Given the description of an element on the screen output the (x, y) to click on. 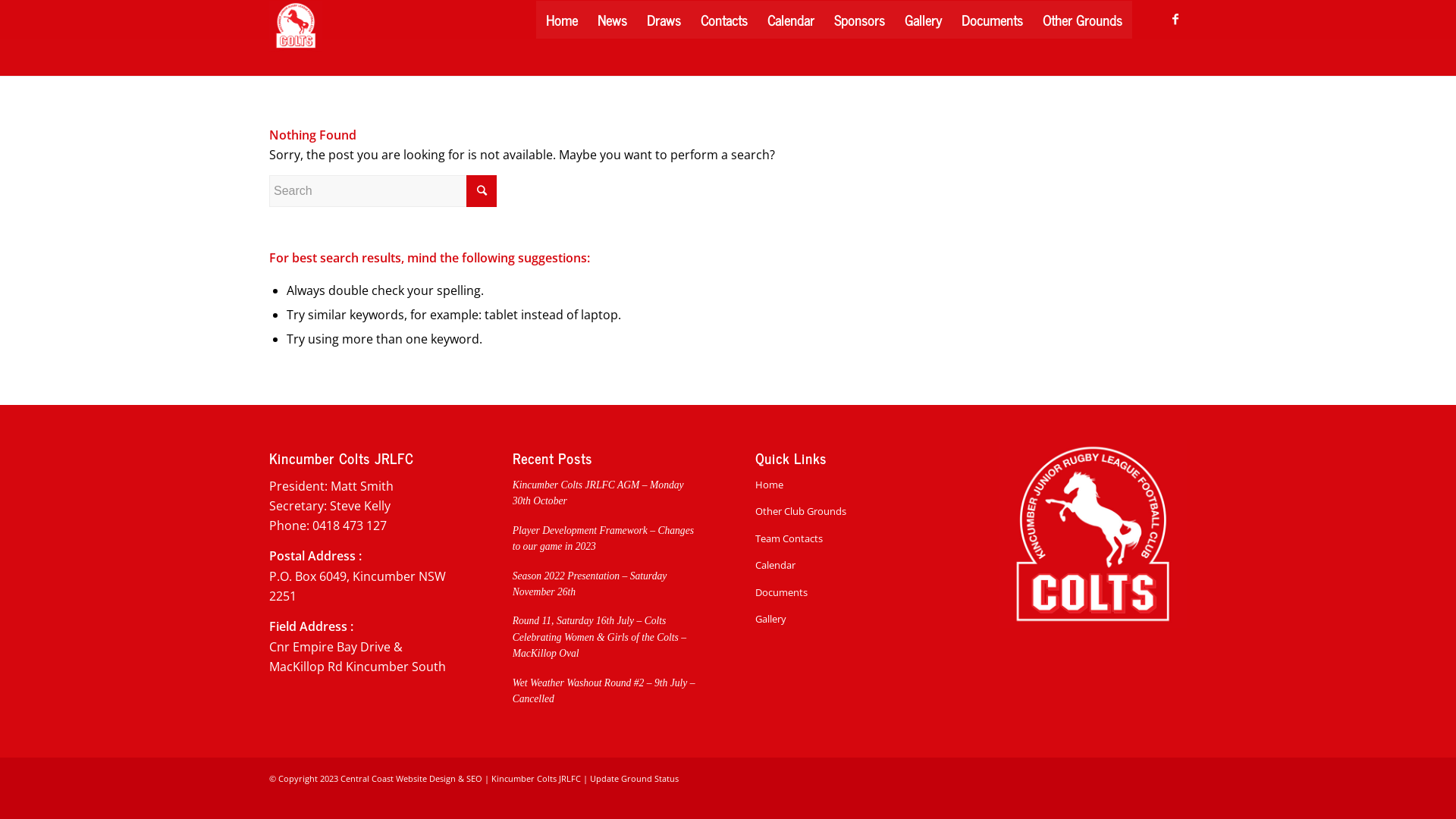
0418 473 127 Element type: text (349, 525)
Facebook Element type: hover (1175, 18)
Contacts Element type: text (723, 19)
Central Coast Website Design & SEO Element type: text (411, 778)
News Element type: text (612, 19)
Other Club Grounds Element type: text (849, 511)
Home Element type: text (849, 484)
Documents Element type: text (849, 592)
Sponsors Element type: text (859, 19)
Home Element type: text (561, 19)
Update Ground Status Element type: text (633, 778)
Gallery Element type: text (922, 19)
Gallery Element type: text (849, 618)
Calendar Element type: text (790, 19)
Documents Element type: text (991, 19)
Calendar Element type: text (849, 565)
Draws Element type: text (663, 19)
Team Contacts Element type: text (849, 538)
Other Grounds Element type: text (1082, 19)
